Given the description of an element on the screen output the (x, y) to click on. 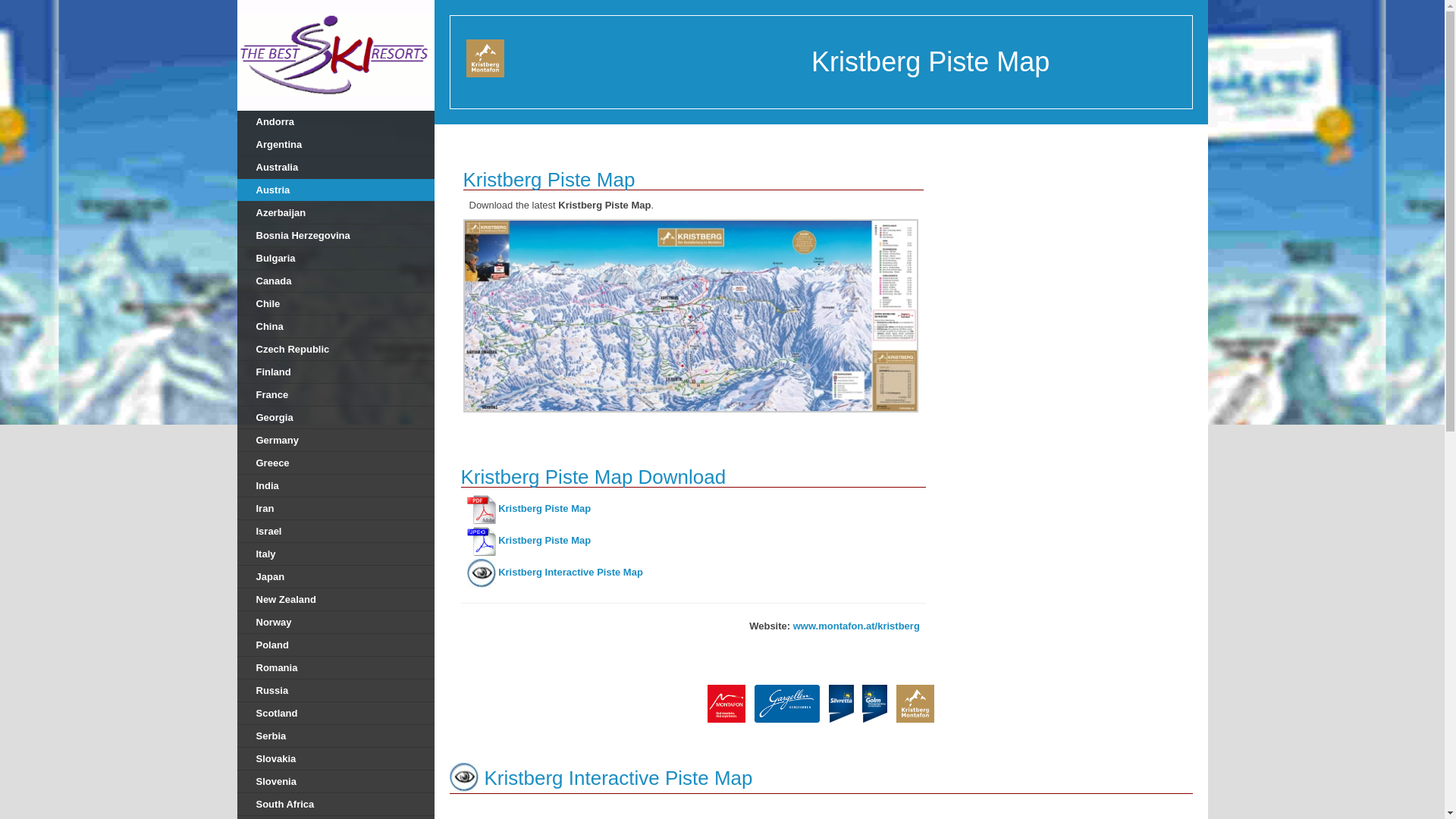
Kristberg Piste Map pdf (544, 509)
Argentina (334, 144)
Bosnia Herzegovina (334, 235)
Silvretta Piste Map (840, 702)
Canada (334, 281)
France (334, 395)
Australia (334, 167)
Austria (334, 190)
Advertisement (1075, 241)
China (334, 326)
